Given the description of an element on the screen output the (x, y) to click on. 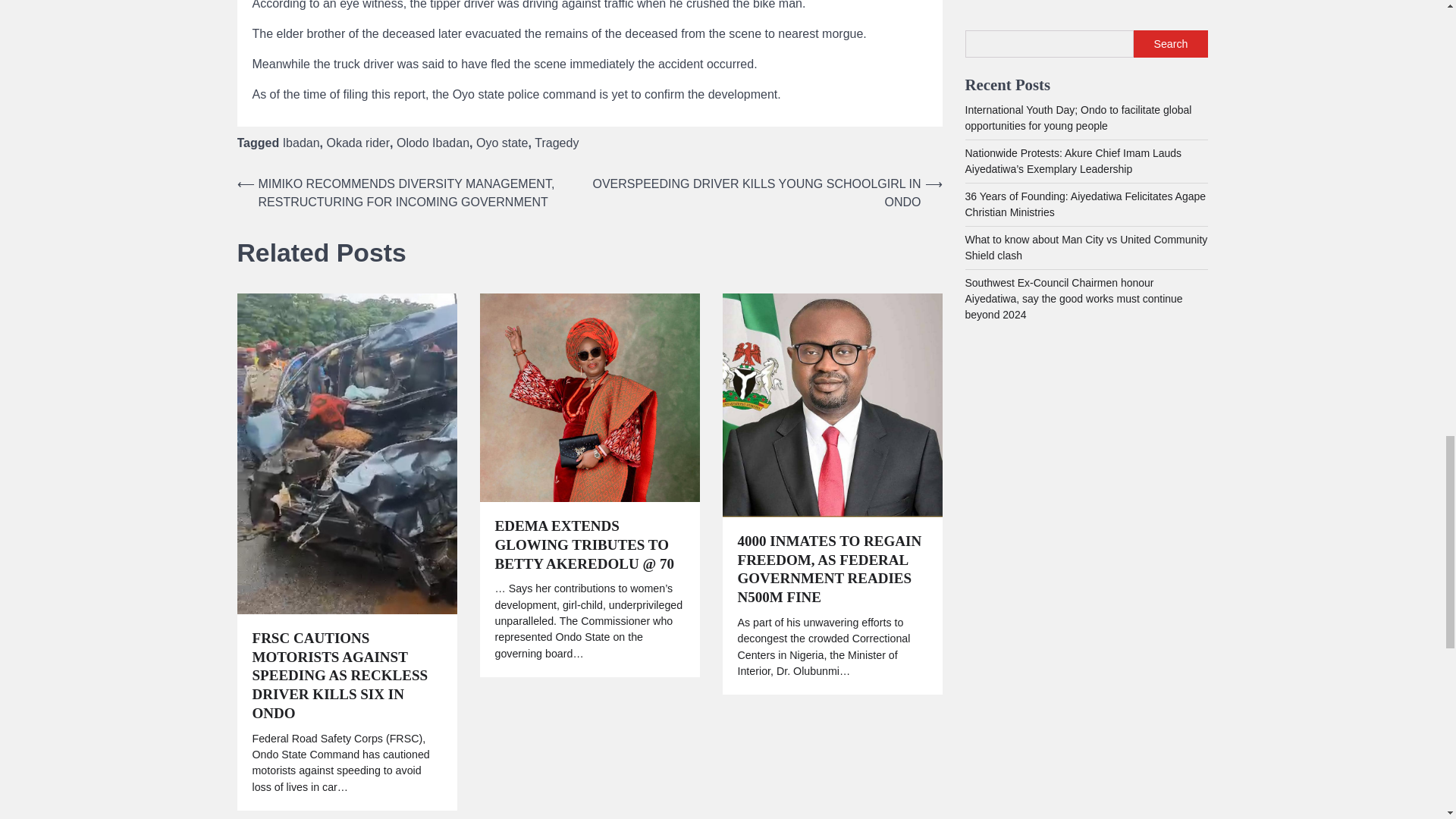
Okada rider (358, 142)
Tragedy (556, 142)
Oyo state (501, 142)
Ibadan (301, 142)
Olodo Ibadan (432, 142)
